Given the description of an element on the screen output the (x, y) to click on. 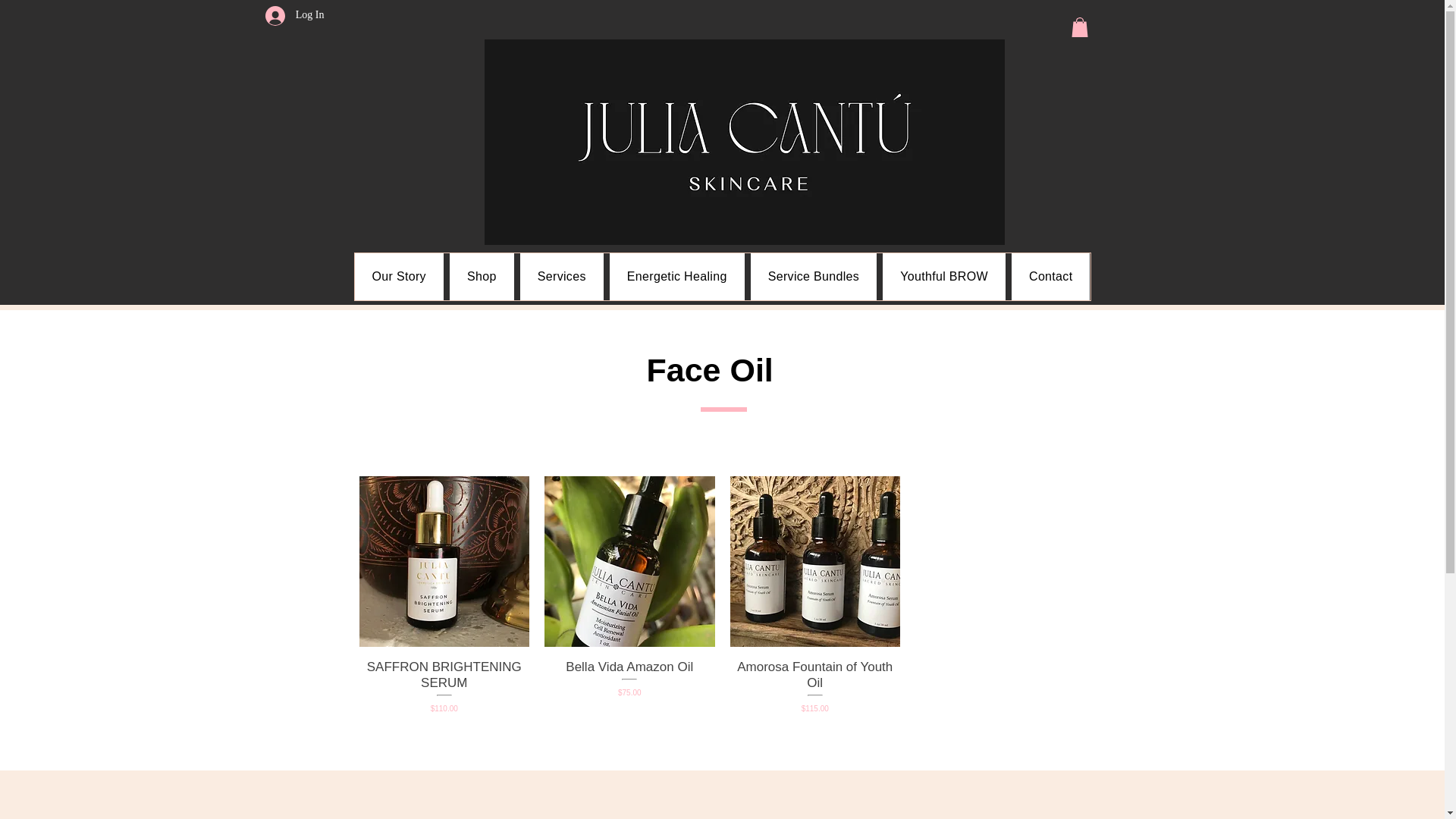
Youthful BROW (944, 276)
Service Bundles (814, 276)
Services (561, 276)
Log In (294, 15)
Shop (481, 276)
Contact (1050, 276)
